Given the description of an element on the screen output the (x, y) to click on. 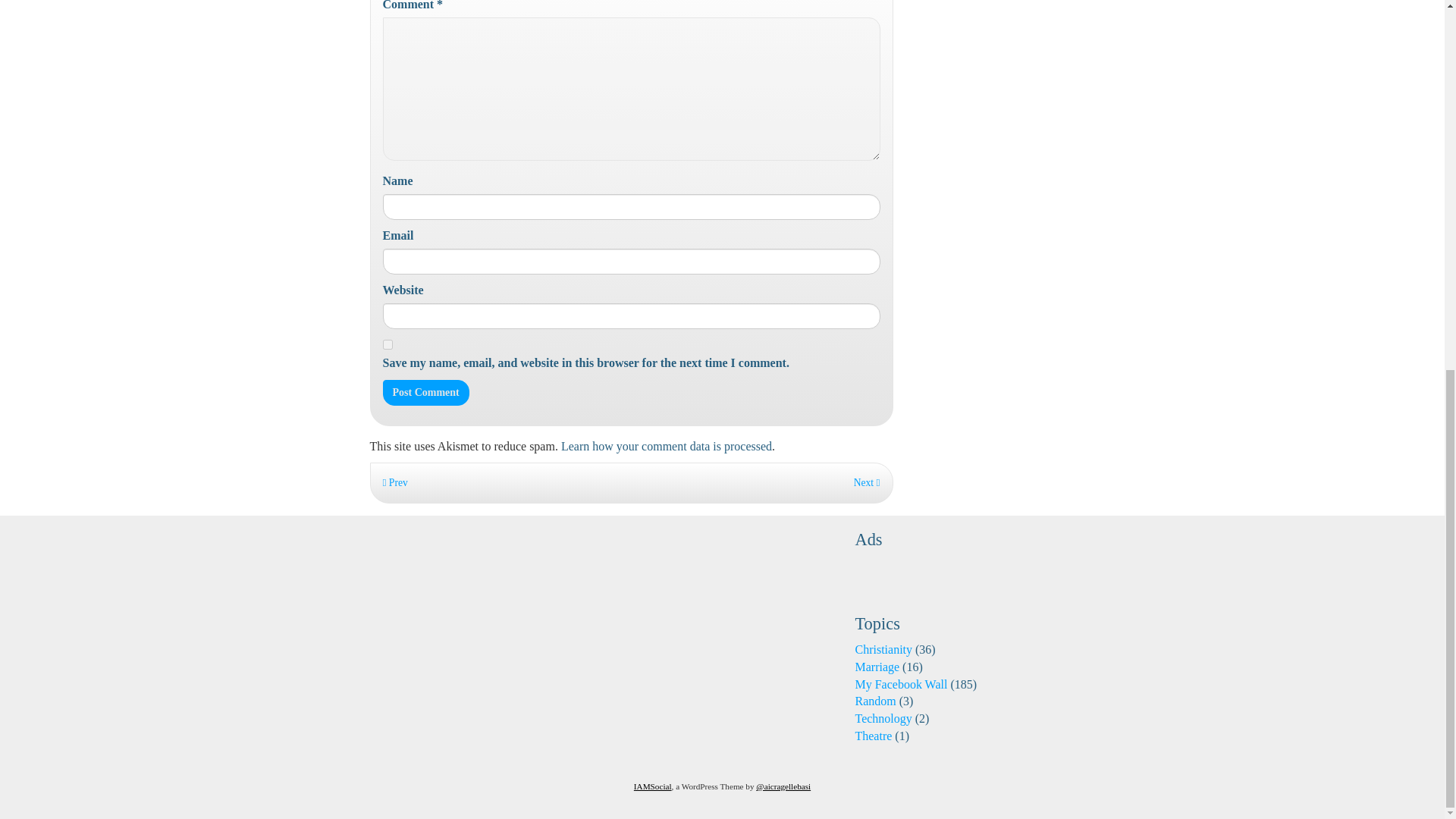
Post Comment (424, 392)
Learn how your comment data is processed (665, 445)
IAMSocial (652, 786)
Christianity (883, 649)
Marriage (876, 666)
Post Comment (424, 392)
Prev (394, 482)
Technology (882, 717)
My Facebook Wall (900, 684)
Next (866, 482)
